Given the description of an element on the screen output the (x, y) to click on. 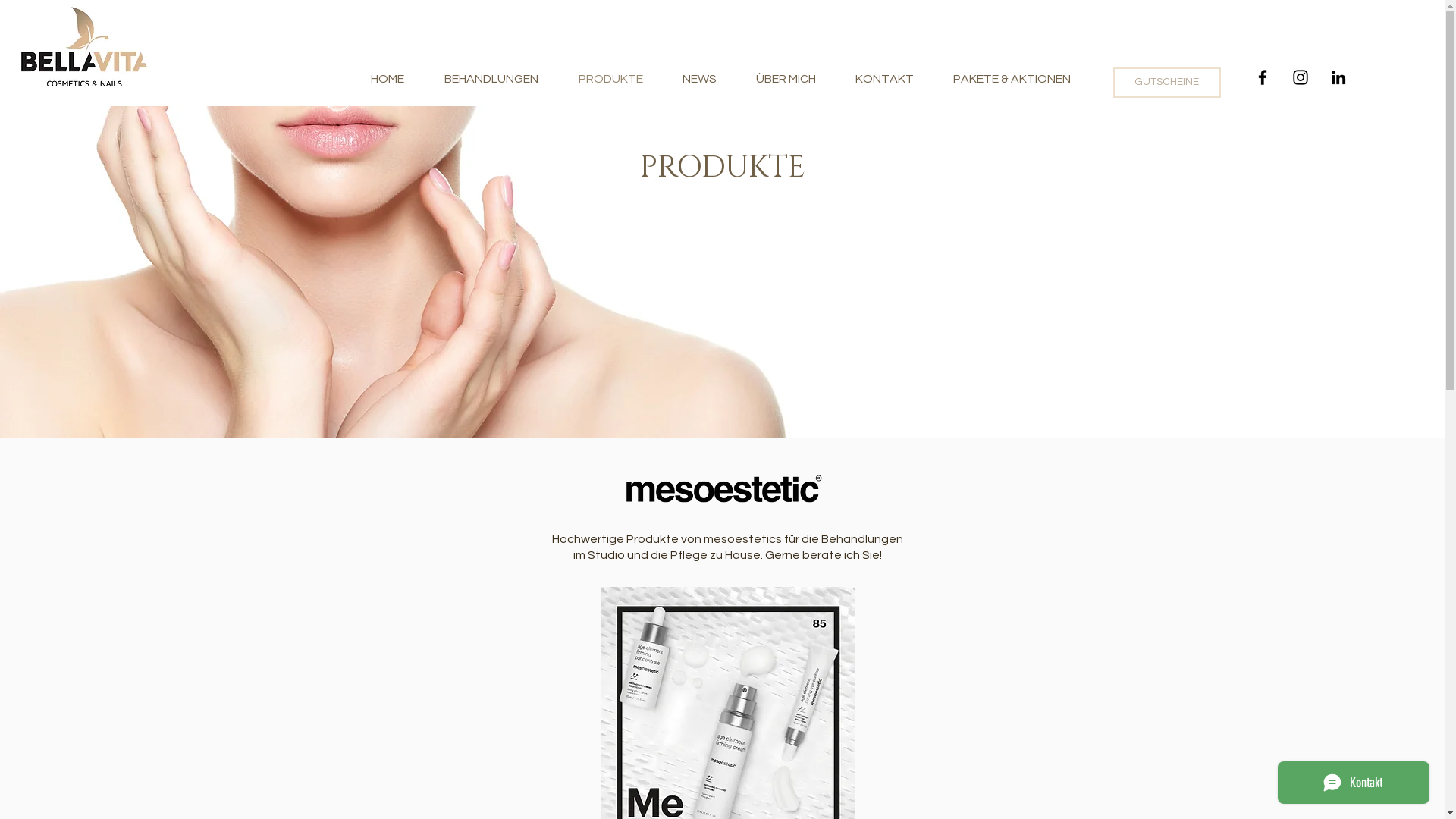
GUTSCHEINE Element type: text (1166, 82)
PAKETE & AKTIONEN Element type: text (1010, 78)
NEWS Element type: text (699, 78)
HOME Element type: text (386, 78)
KONTAKT Element type: text (884, 78)
BEHANDLUNGEN Element type: text (491, 78)
PRODUKTE Element type: text (610, 78)
